Given the description of an element on the screen output the (x, y) to click on. 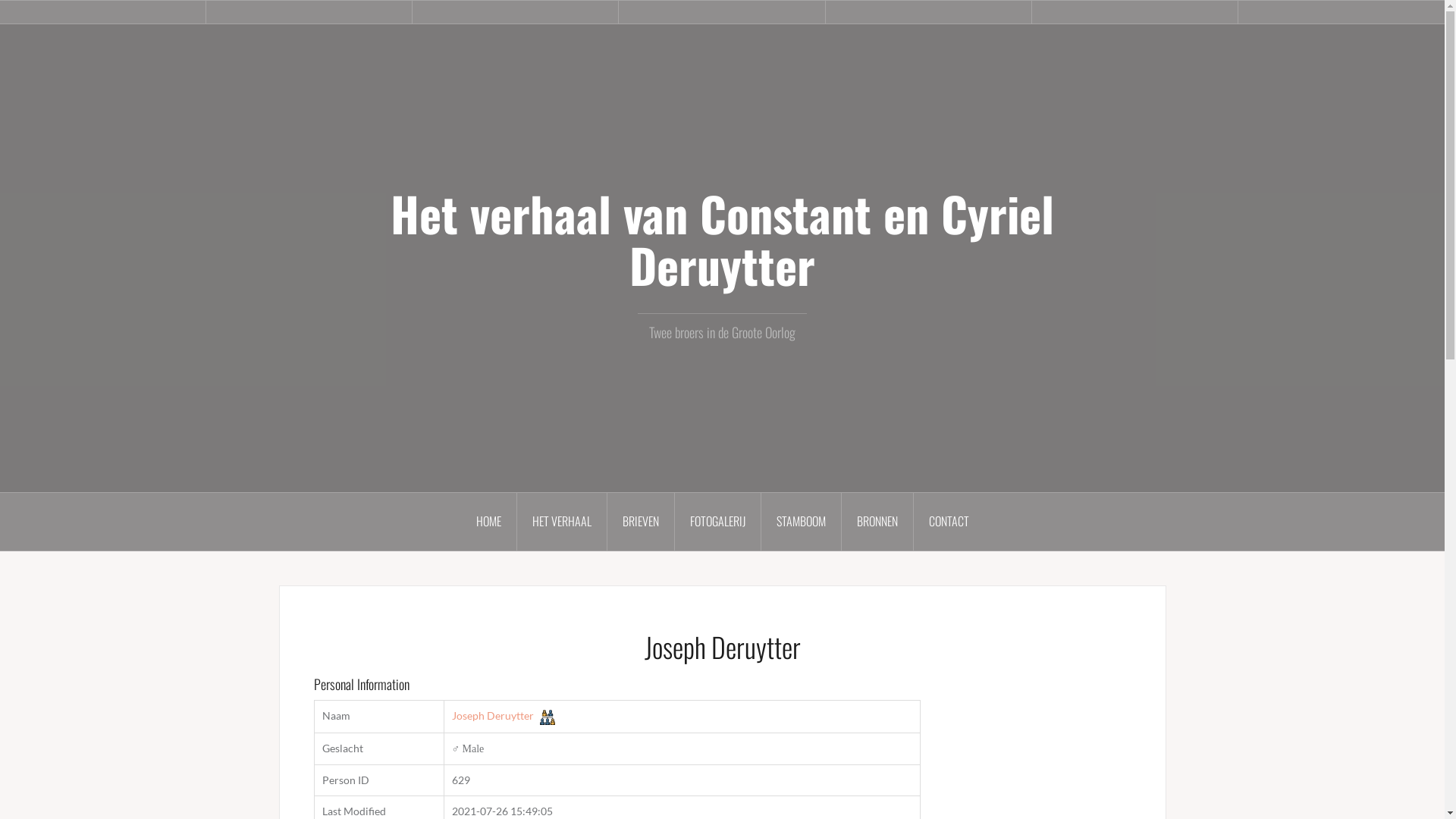
FOTOGALERIJ Element type: text (717, 521)
HET VERHAAL Element type: text (562, 521)
BRIEVEN Element type: text (640, 521)
Het verhaal van Constant en Cyriel Deruytter Element type: text (722, 238)
STAMBOOM Element type: text (801, 521)
Joseph Deruytter Element type: text (492, 715)
BRONNEN Element type: text (877, 521)
CONTACT Element type: text (948, 521)
HOME Element type: text (489, 521)
